Given the description of an element on the screen output the (x, y) to click on. 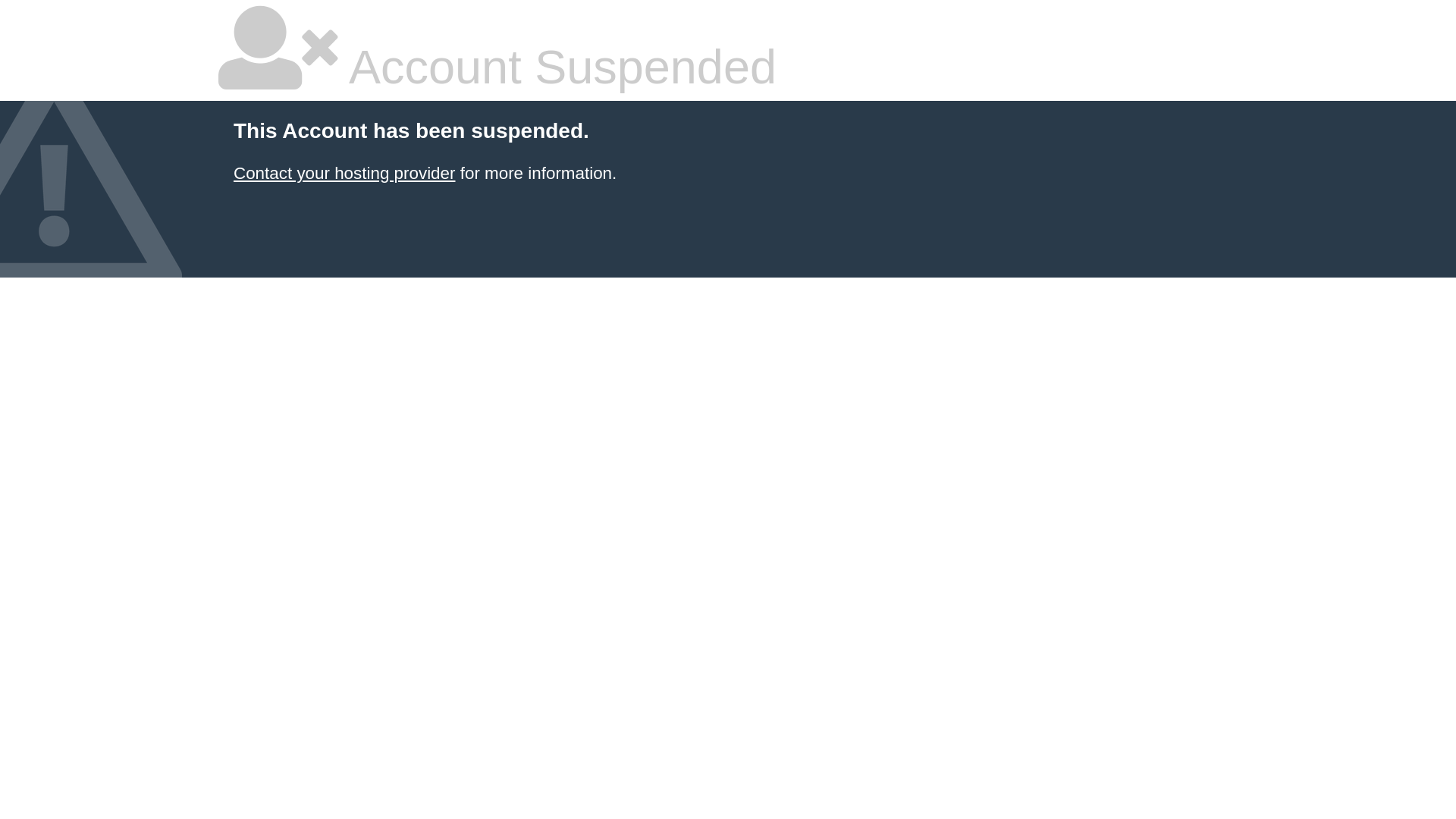
Contact your hosting provider Element type: text (344, 172)
